Given the description of an element on the screen output the (x, y) to click on. 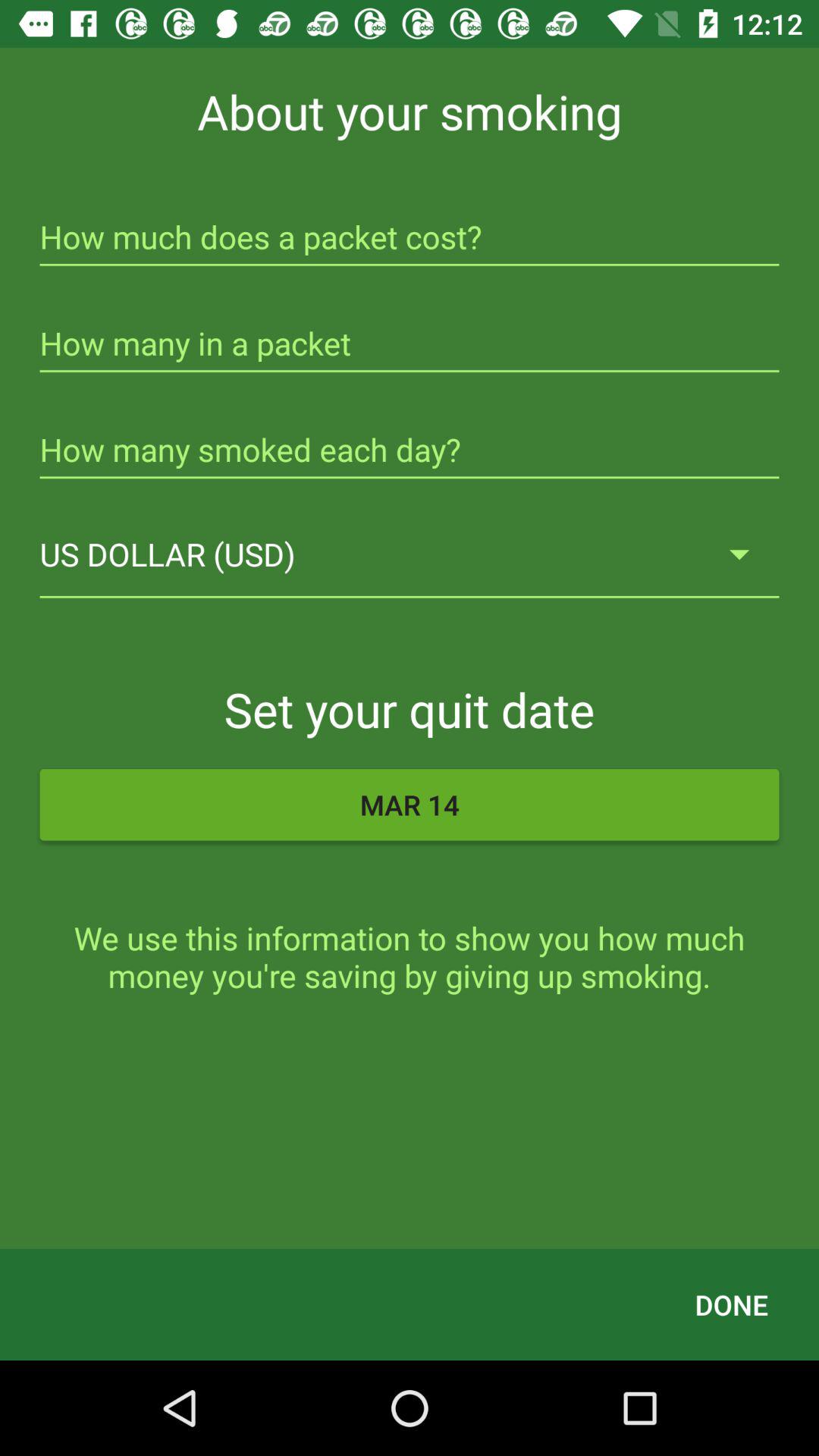
flip until the done icon (731, 1304)
